Given the description of an element on the screen output the (x, y) to click on. 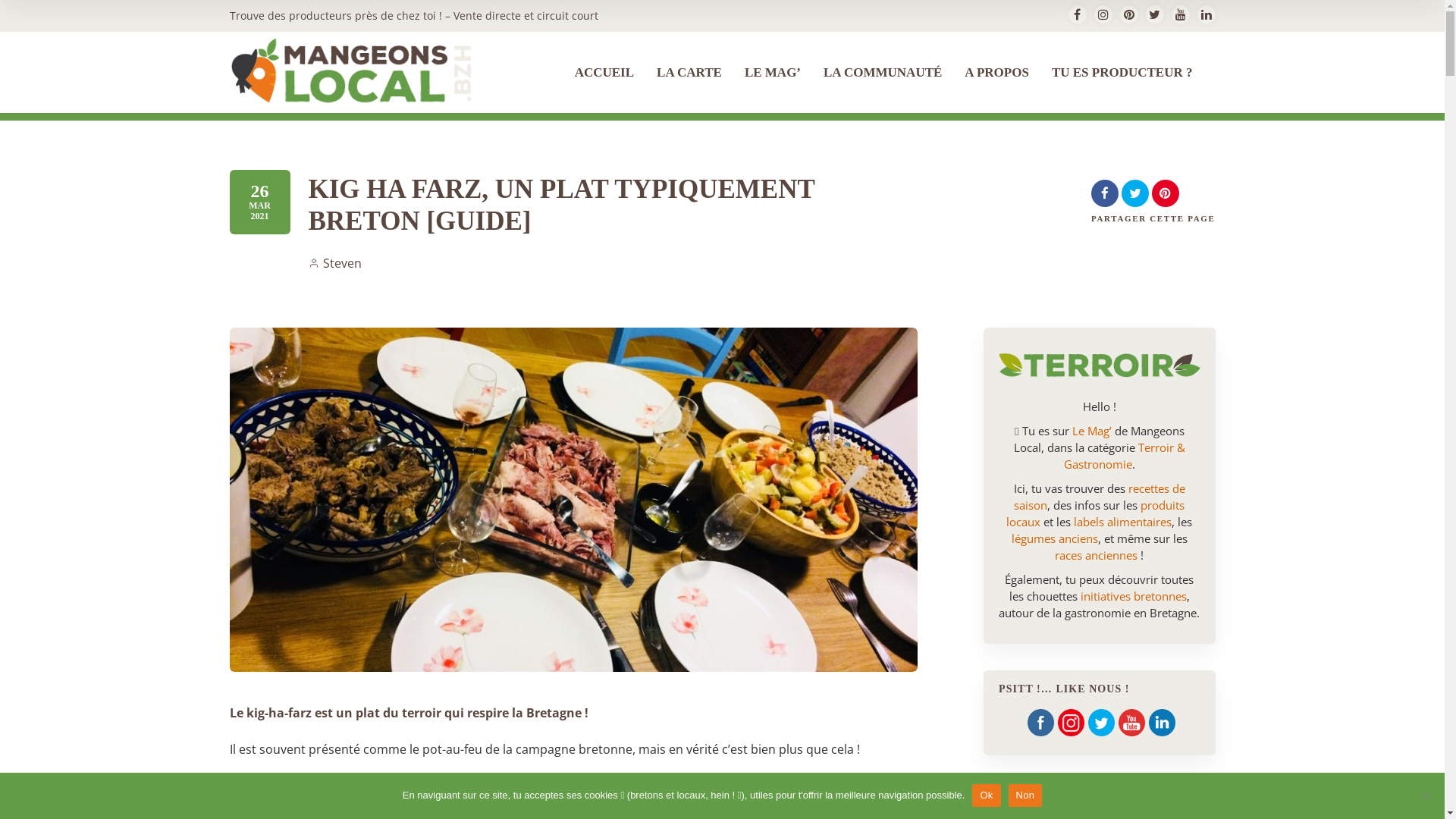
produits locaux Element type: text (1095, 513)
A PROPOS Element type: text (996, 88)
Ok Element type: text (986, 795)
ACCUEIL Element type: text (603, 88)
labels alimentaires Element type: text (1122, 521)
LA CARTE Element type: text (688, 88)
Mangeons Local Element type: hover (351, 71)
races anciennes Element type: text (1095, 554)
Steven Element type: text (333, 262)
initiatives bretonnes Element type: text (1133, 595)
Non Element type: hover (1425, 795)
TU ES PRODUCTEUR ? Element type: text (1121, 88)
Terroir & Gastronomie Element type: text (1124, 455)
recettes de saison Element type: text (1099, 496)
Non Element type: text (1025, 795)
